Given the description of an element on the screen output the (x, y) to click on. 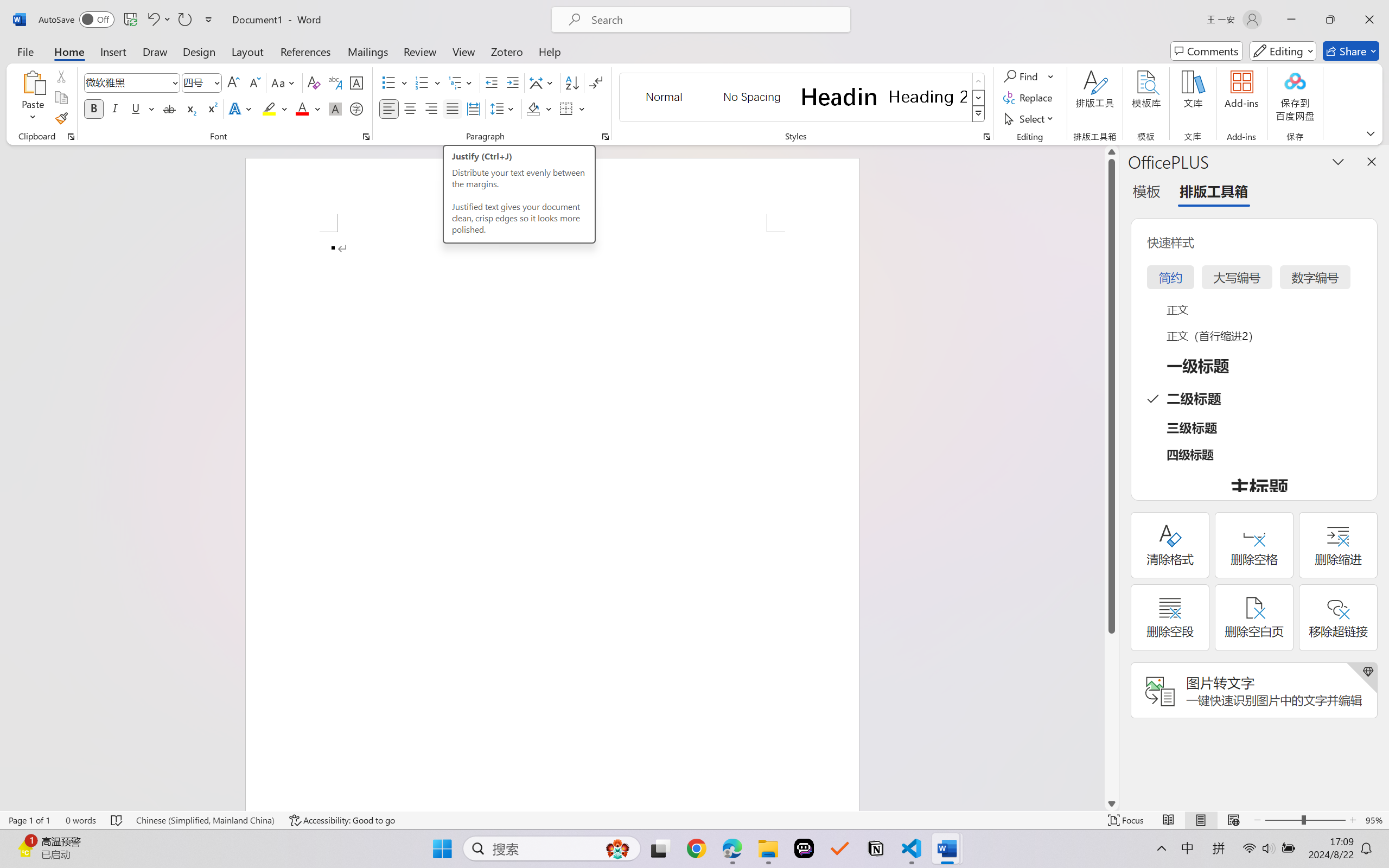
Undo <ApplyStyleToDoc>b__0 (158, 19)
